Given the description of an element on the screen output the (x, y) to click on. 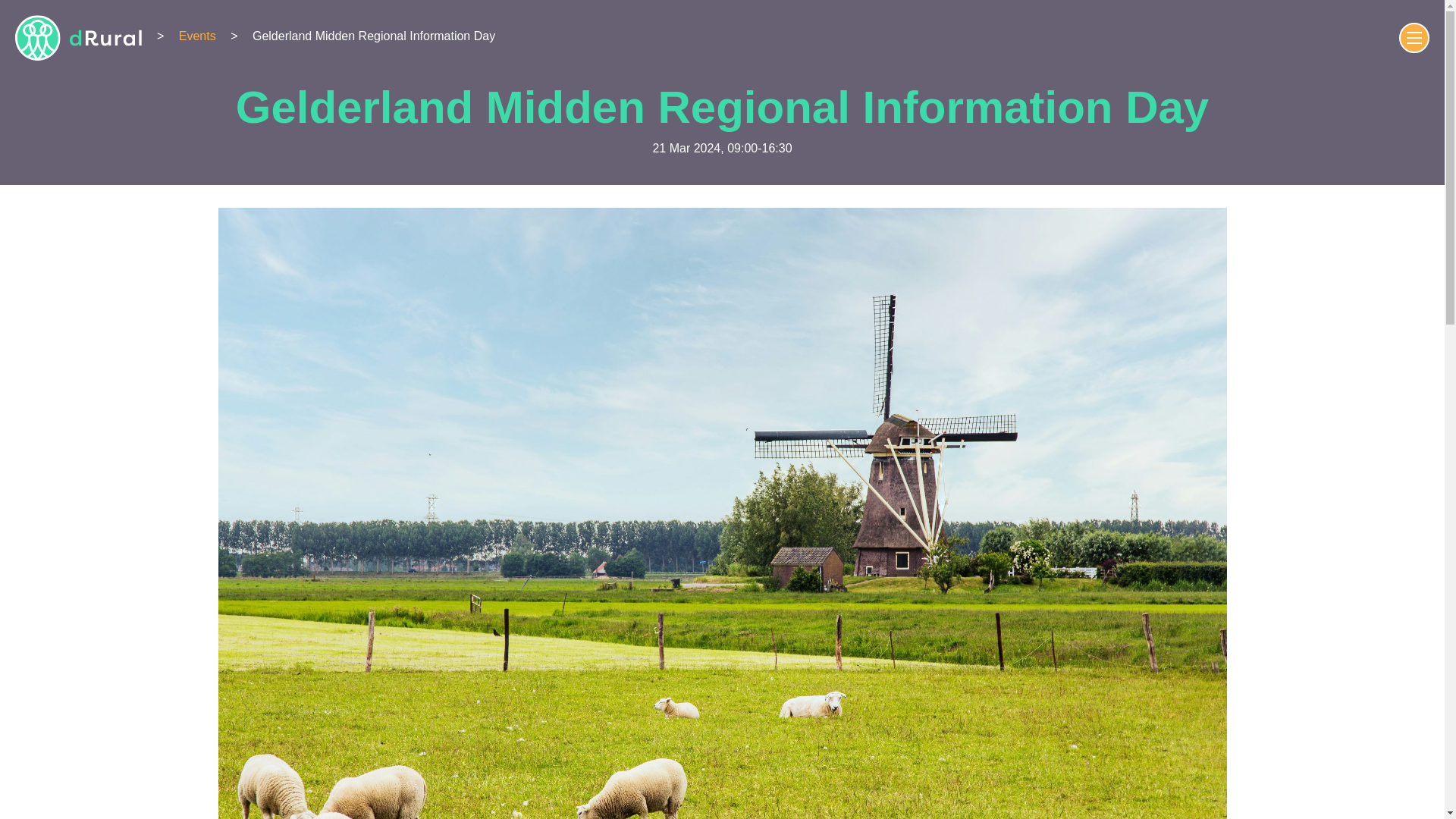
Menu (1414, 37)
dRural (77, 37)
CONTACT (1371, 37)
dRural (77, 37)
Events (197, 35)
